Given the description of an element on the screen output the (x, y) to click on. 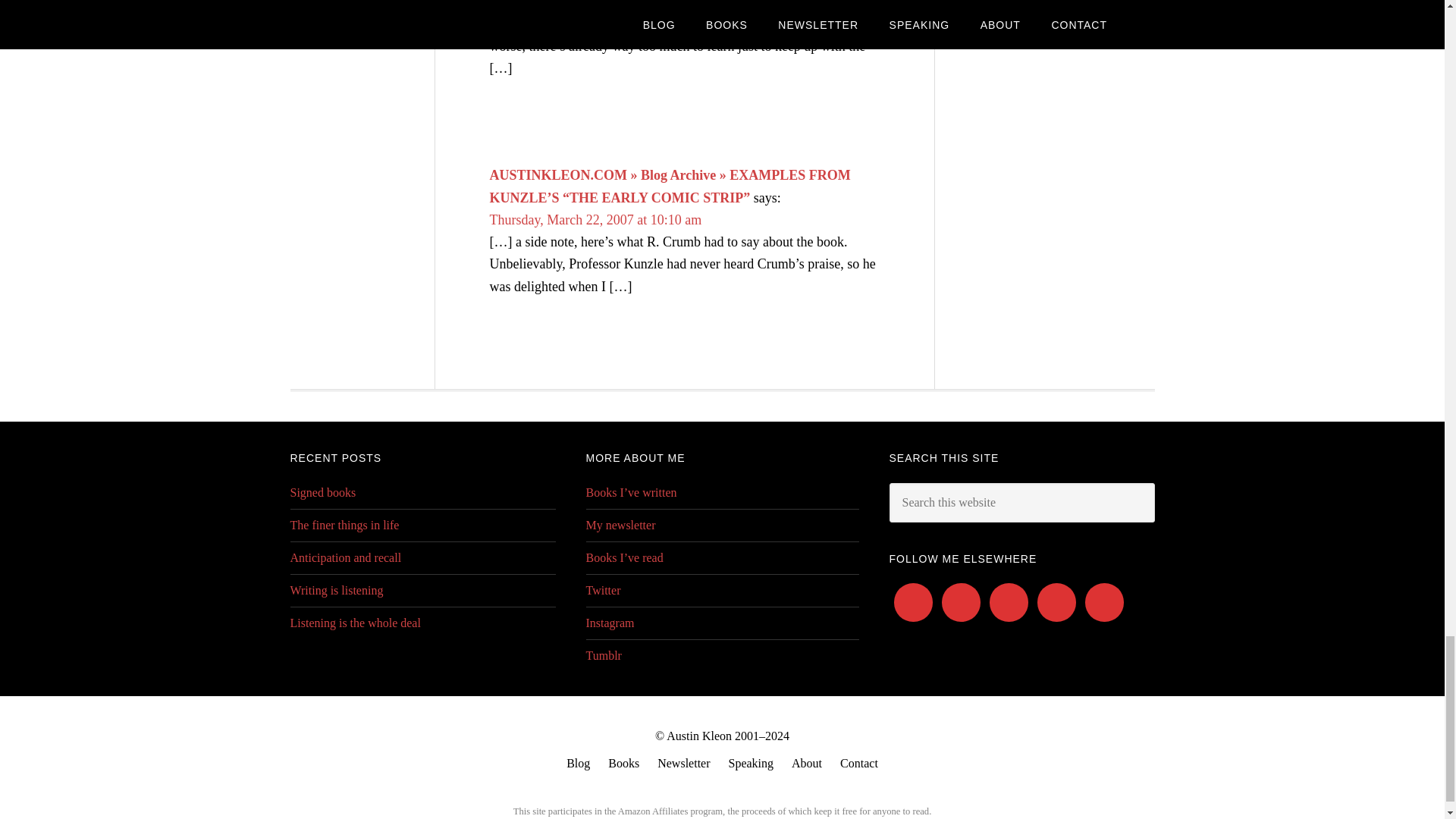
Read my books (623, 763)
Thursday, March 22, 2007 at 10:10 am (595, 219)
